Given the description of an element on the screen output the (x, y) to click on. 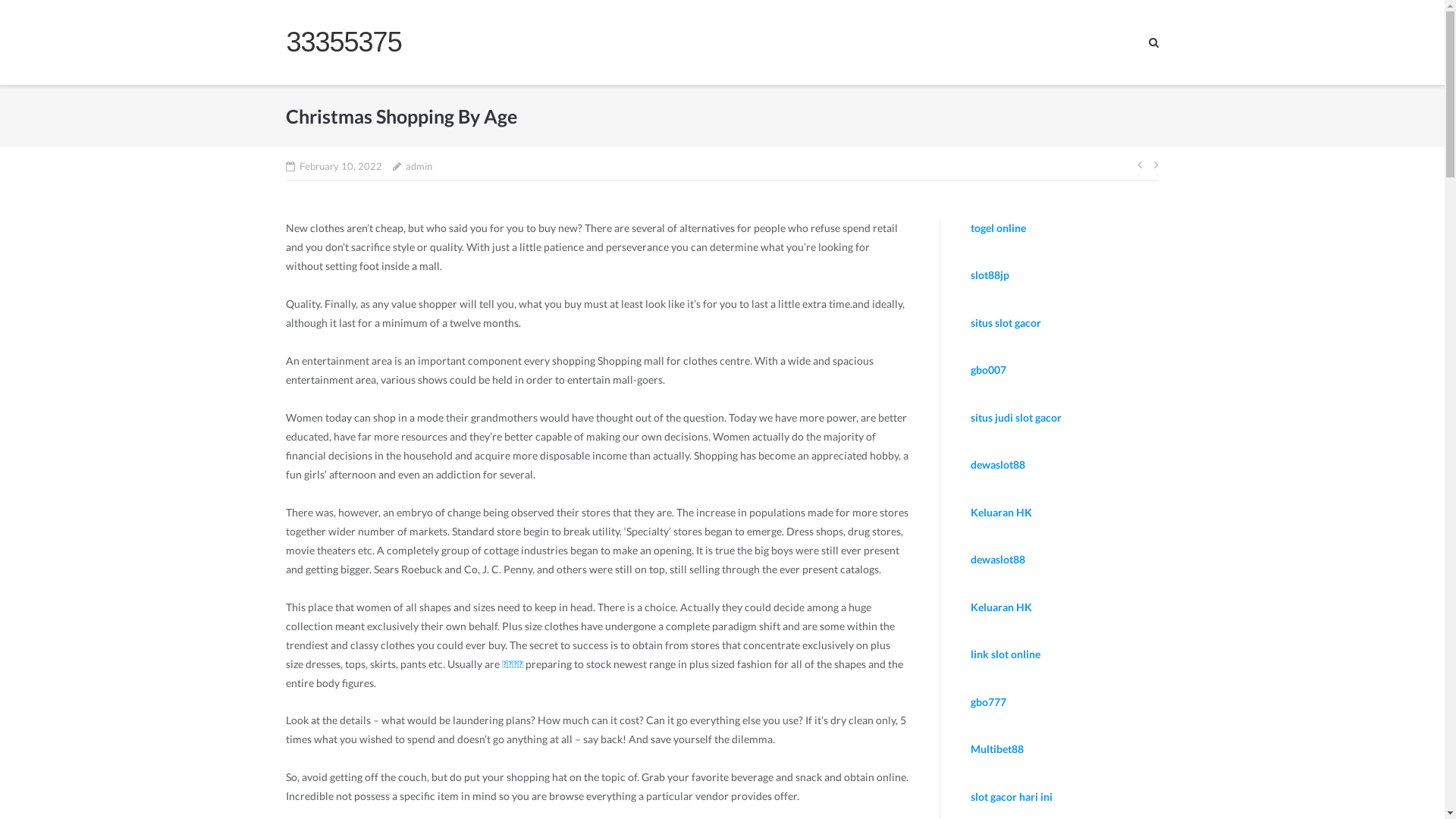
slot gacor hari ini Element type: text (1011, 796)
33355375 Element type: text (343, 42)
situs slot gacor Element type: text (1005, 322)
gbo777 Element type: text (988, 701)
gbo007 Element type: text (988, 369)
Keluaran HK Element type: text (1001, 511)
Multibet88 Element type: text (996, 748)
admin Element type: text (418, 165)
dewaslot88 Element type: text (997, 558)
dewaslot88 Element type: text (997, 464)
togel online Element type: text (998, 227)
slot88jp Element type: text (989, 274)
link slot online Element type: text (1005, 653)
situs judi slot gacor Element type: text (1015, 417)
Keluaran HK Element type: text (1001, 606)
